Given the description of an element on the screen output the (x, y) to click on. 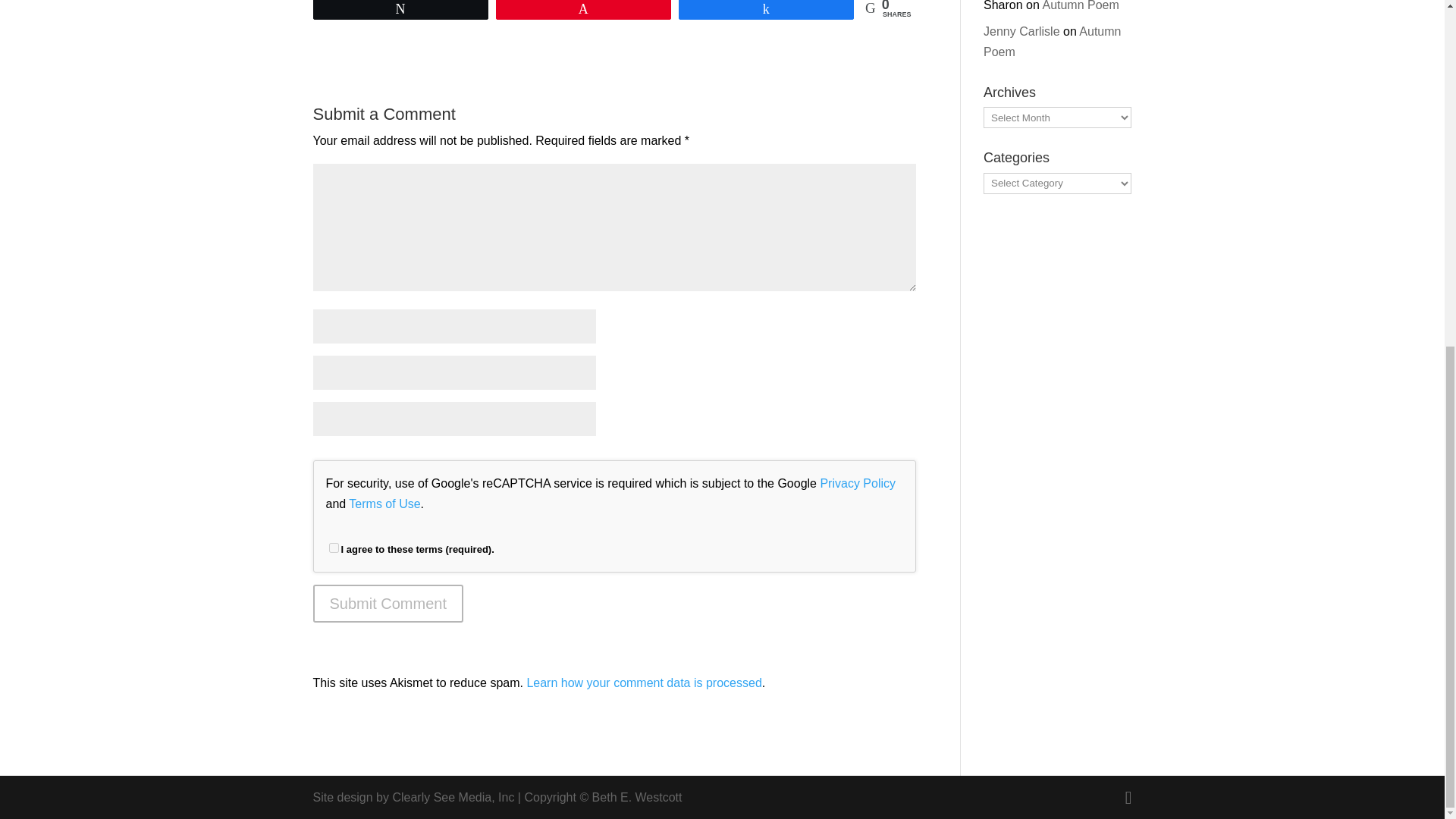
Privacy Policy (857, 482)
Autumn Poem (1080, 5)
Submit Comment (388, 603)
Autumn Poem (1052, 41)
Jenny Carlisle (1021, 31)
Terms of Use (384, 503)
on (334, 547)
Learn how your comment data is processed (643, 682)
Submit Comment (388, 603)
